Given the description of an element on the screen output the (x, y) to click on. 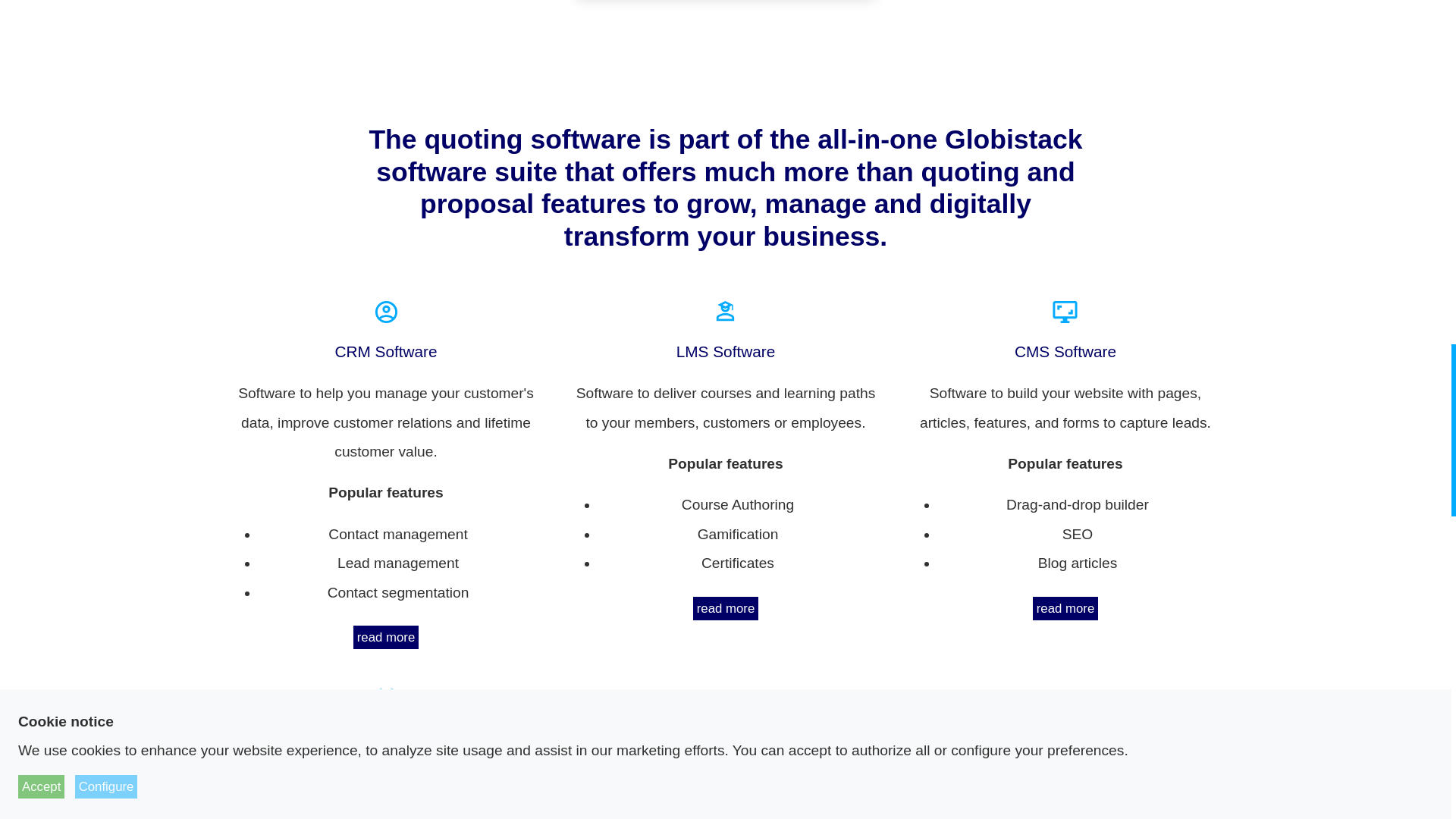
read more (1064, 608)
read more (725, 608)
read more (386, 637)
